Given the description of an element on the screen output the (x, y) to click on. 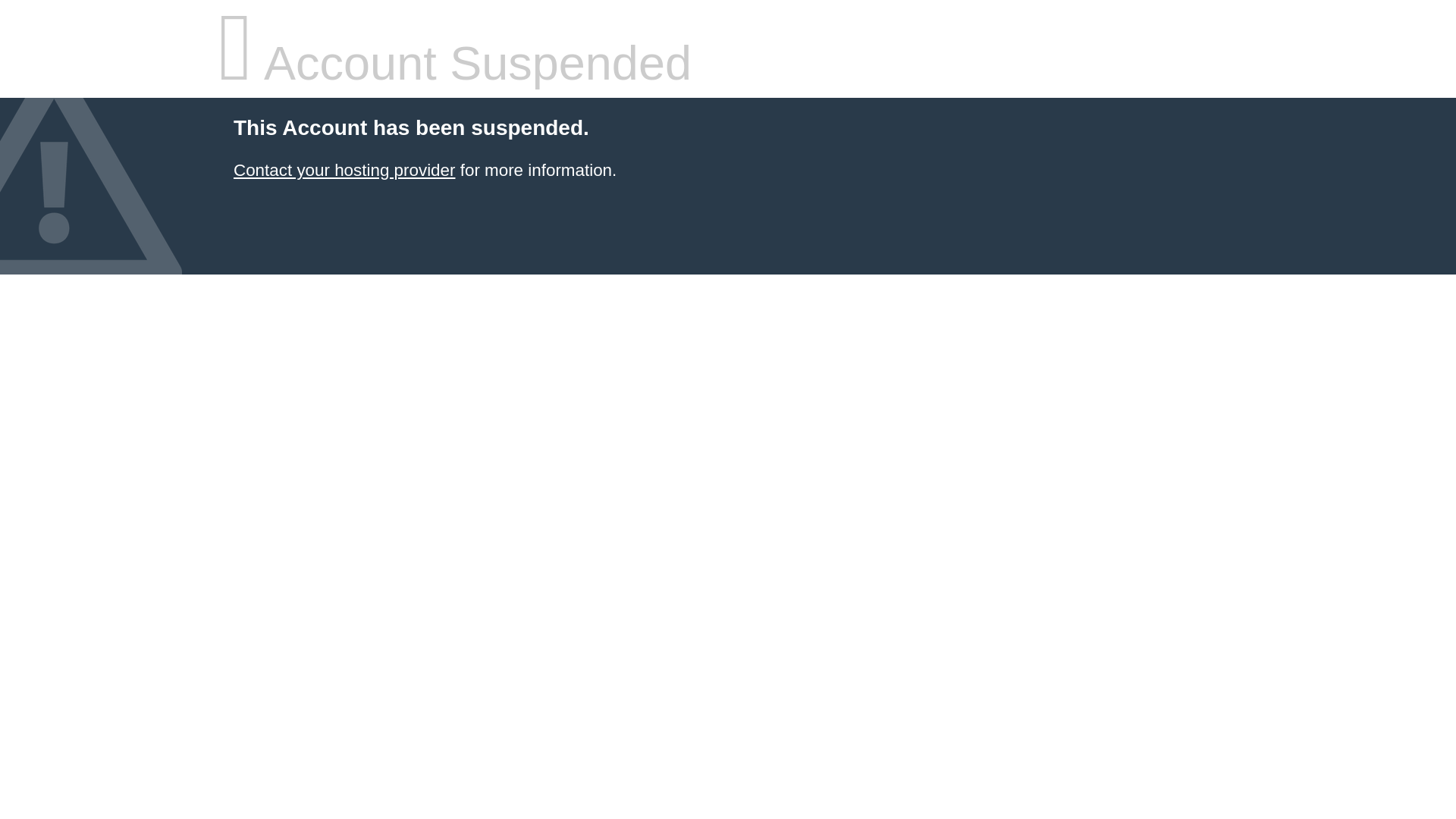
Contact your hosting provider (343, 169)
